Given the description of an element on the screen output the (x, y) to click on. 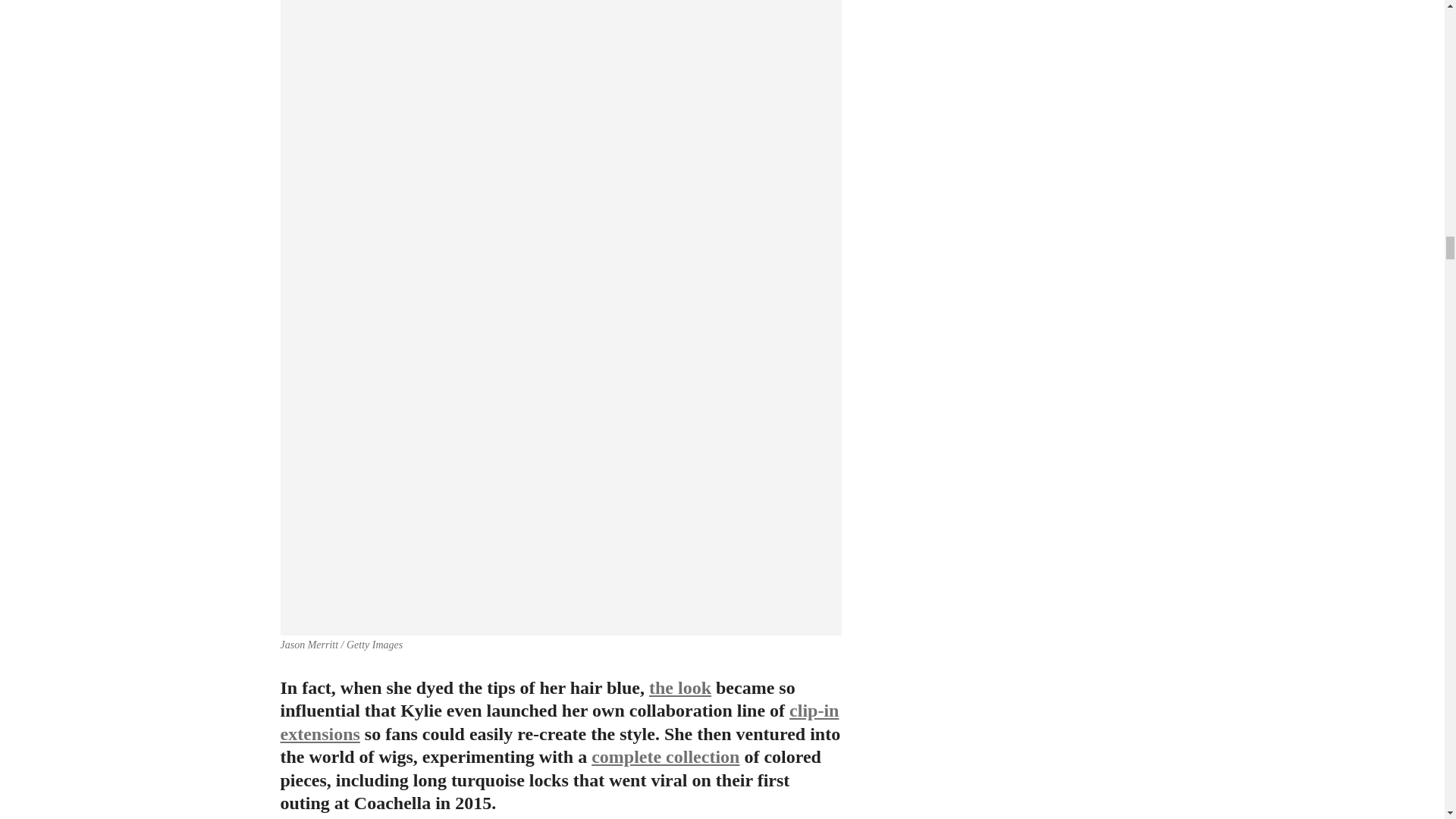
clip-in extensions (560, 721)
the look (680, 687)
complete collection (665, 756)
